Given the description of an element on the screen output the (x, y) to click on. 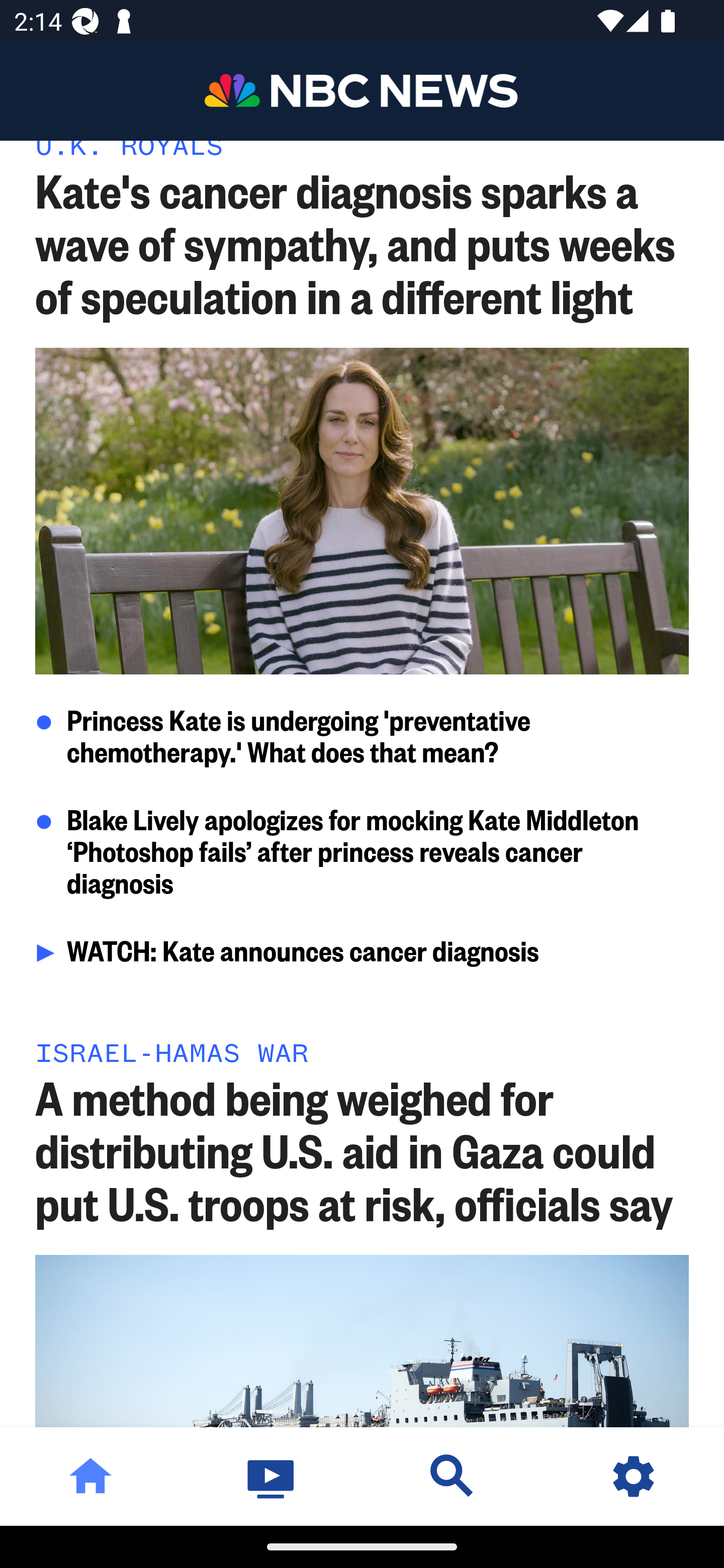
Watch (271, 1475)
Discover (452, 1475)
Settings (633, 1475)
